Given the description of an element on the screen output the (x, y) to click on. 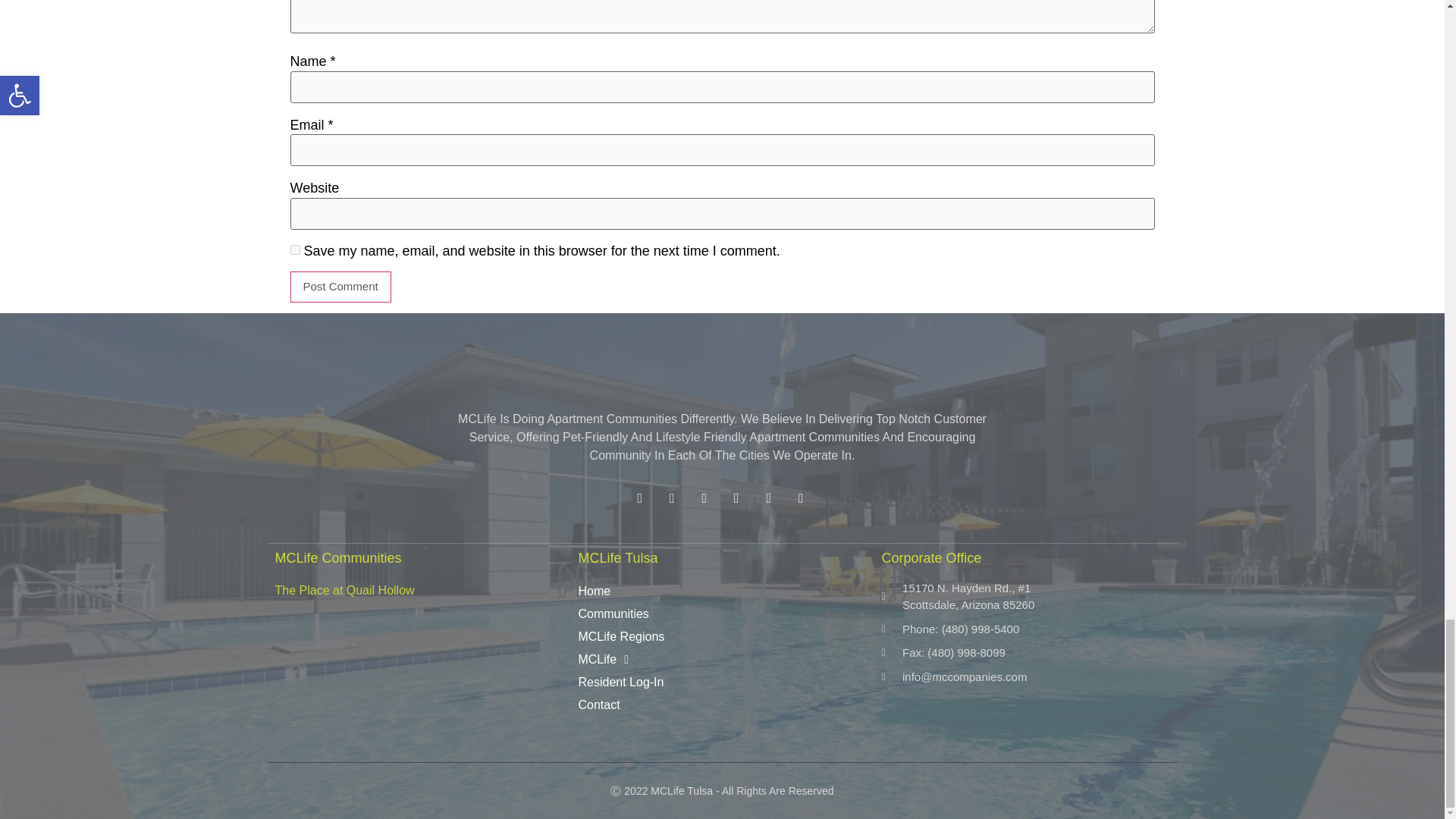
Post Comment (339, 286)
yes (294, 249)
